Given the description of an element on the screen output the (x, y) to click on. 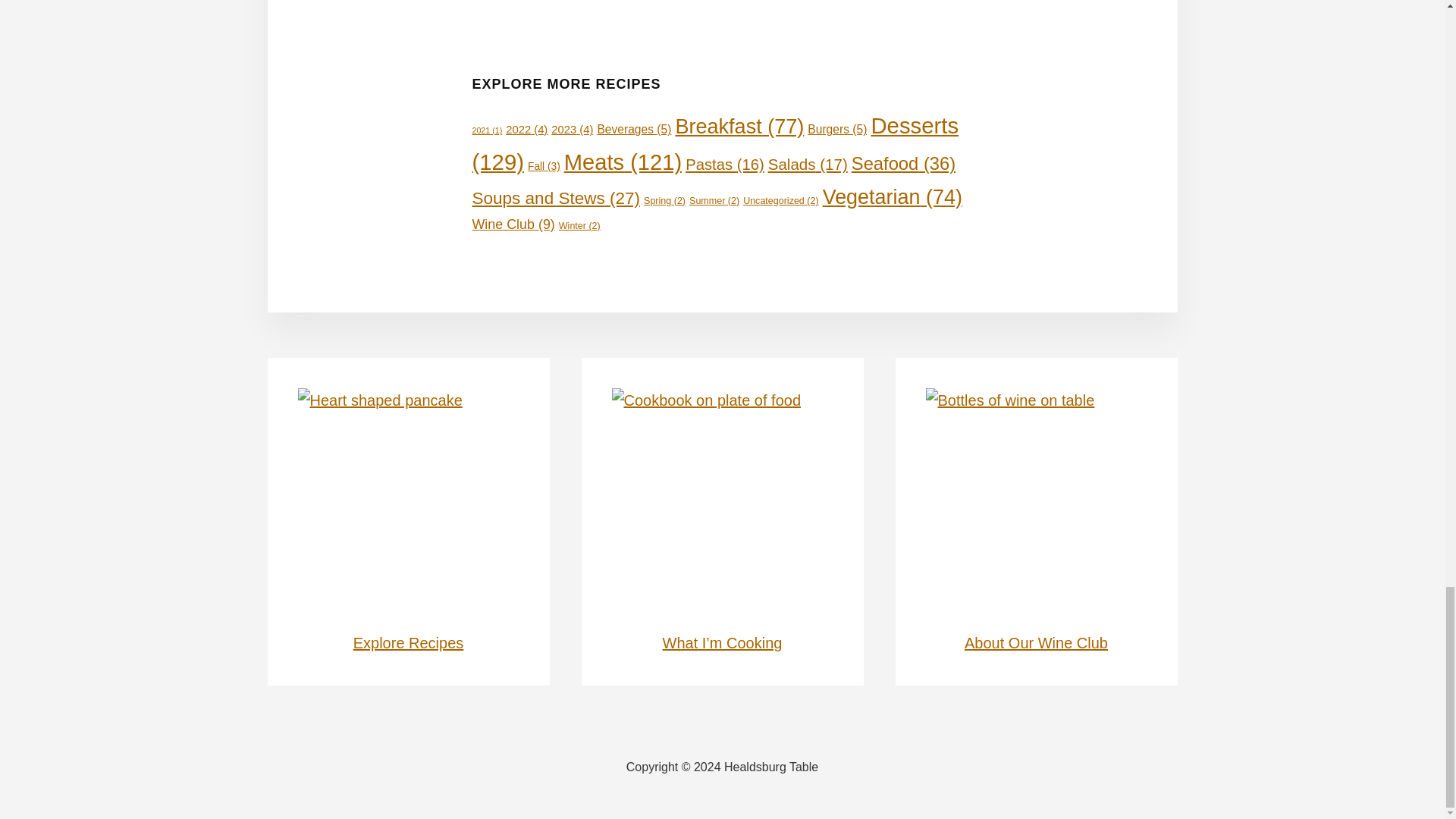
Explore Recipes (408, 642)
